Given the description of an element on the screen output the (x, y) to click on. 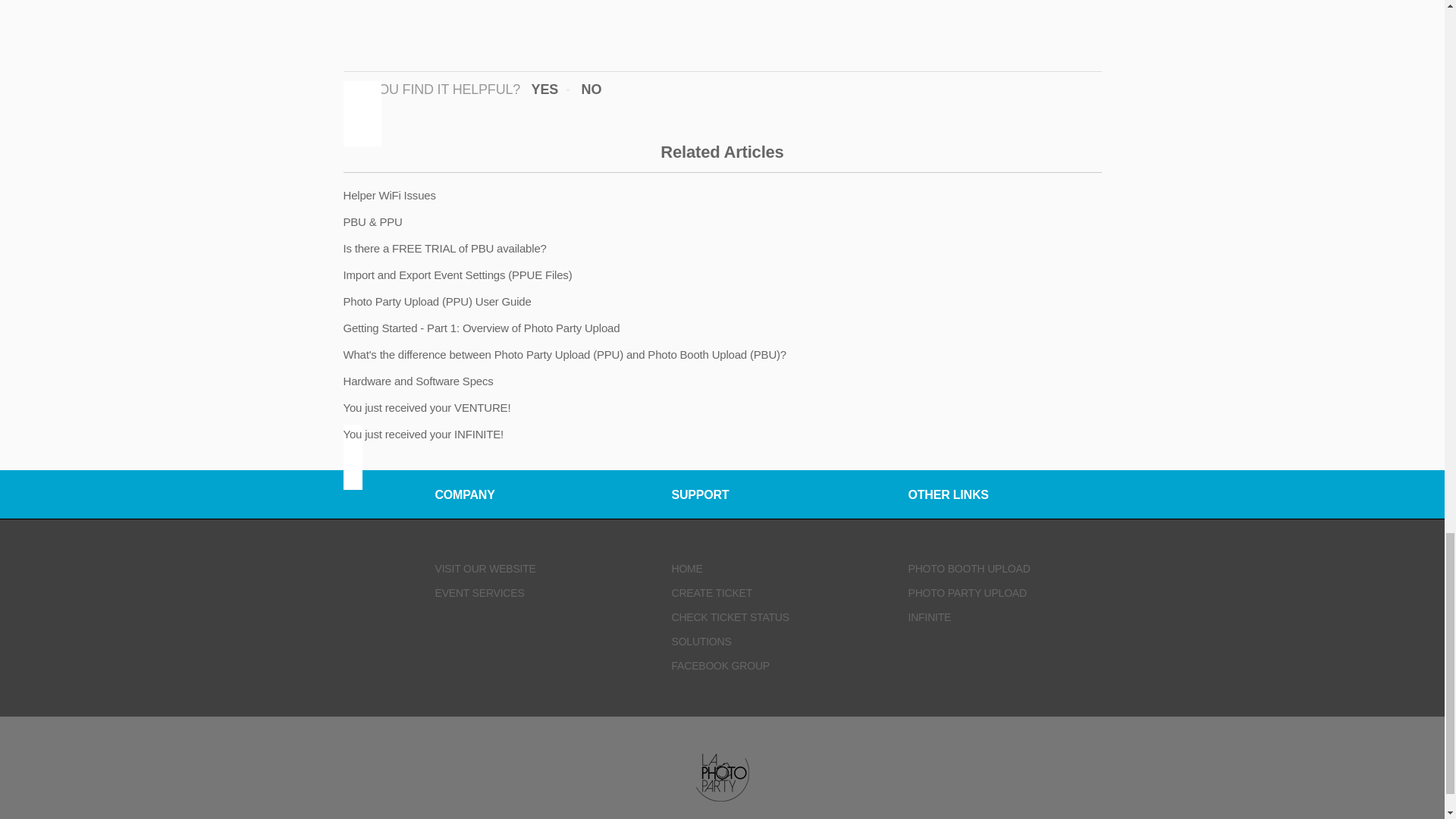
PHOTO BOOTH UPLOAD (969, 568)
VISIT OUR WEBSITE (485, 568)
SOLUTIONS (701, 641)
PHOTO PARTY UPLOAD (967, 592)
Getting Started - Part 1: Overview of Photo Party Upload (481, 328)
HOME (687, 568)
Helper WiFi Issues (388, 195)
CREATE TICKET (711, 592)
You just received your VENTURE! (426, 407)
You just received your INFINITE! (422, 434)
